Given the description of an element on the screen output the (x, y) to click on. 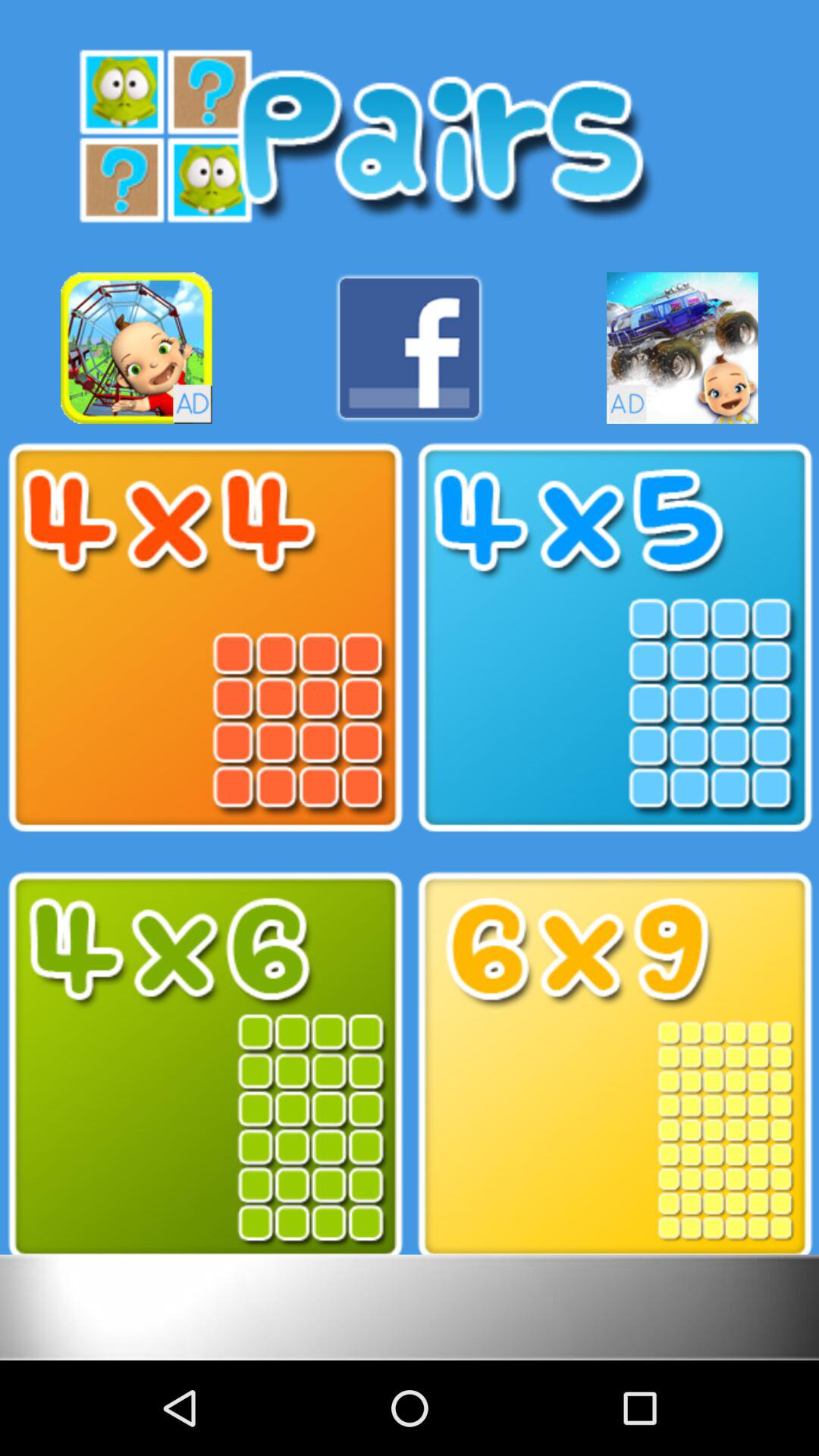
select the option (614, 1066)
